Given the description of an element on the screen output the (x, y) to click on. 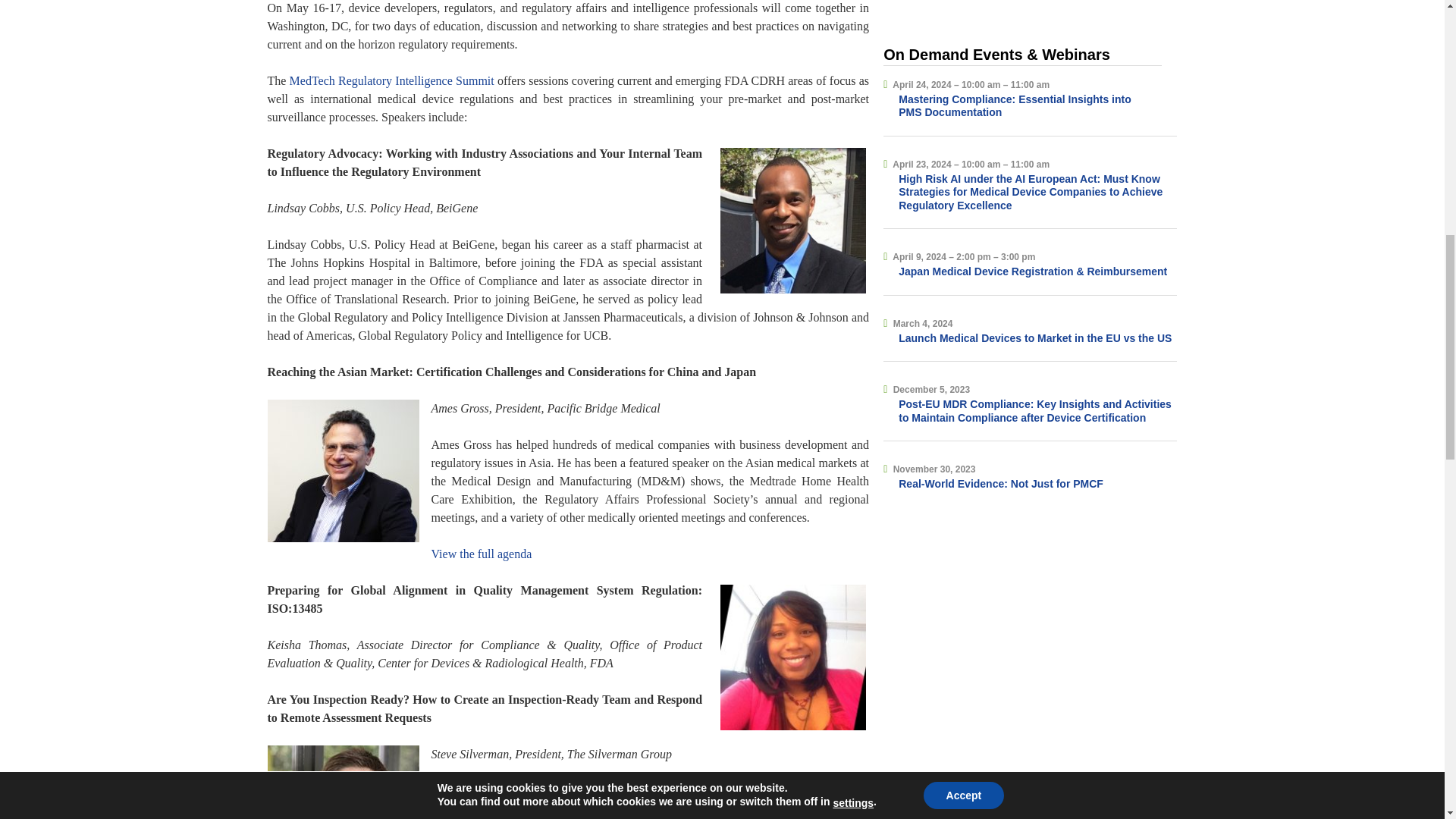
View the full agenda (480, 553)
MedTech Regulatory Intelligence Summit (392, 80)
